Given the description of an element on the screen output the (x, y) to click on. 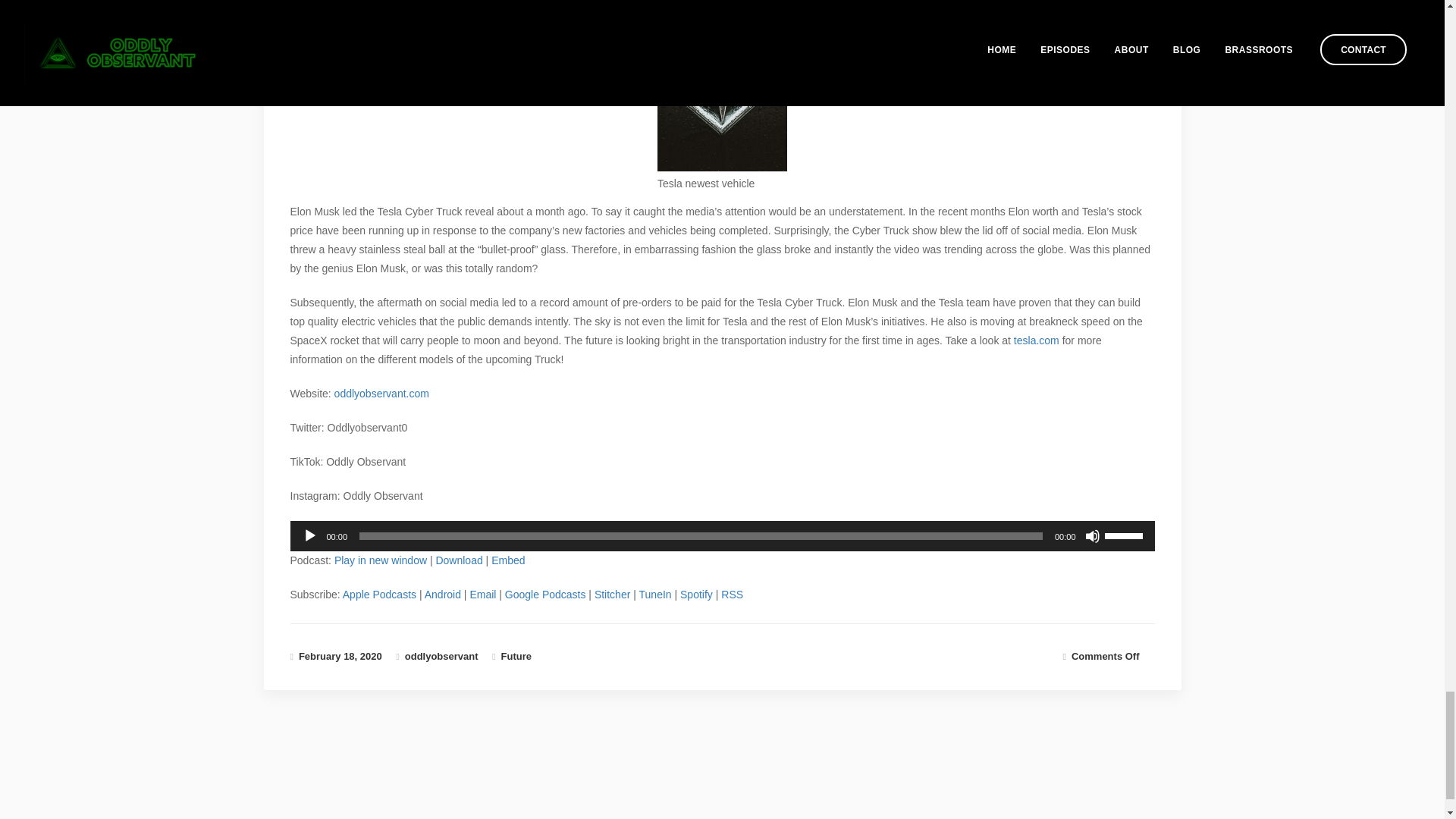
tesla.com (1036, 340)
